Given the description of an element on the screen output the (x, y) to click on. 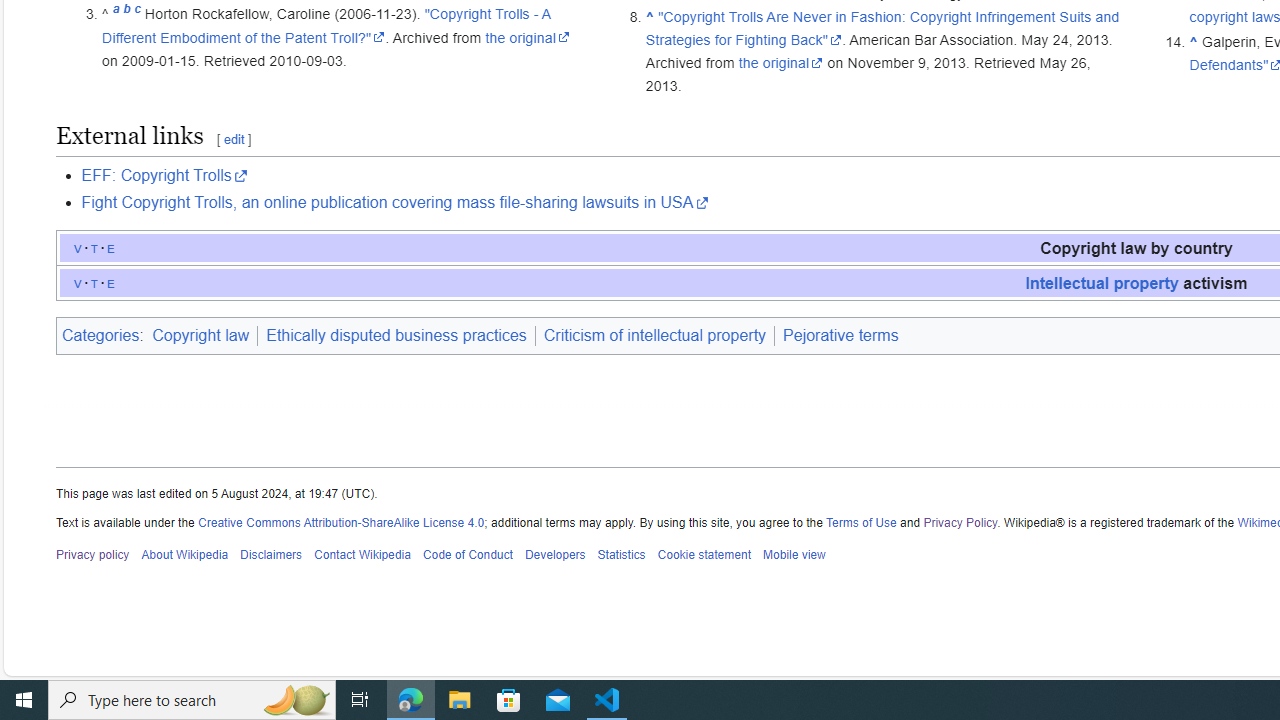
c (137, 14)
Copyright law (200, 335)
Creative Commons Attribution-ShareAlike License 4.0 (341, 521)
Disclaimers (271, 555)
t (93, 282)
Copyright law (203, 336)
Intellectual property (1101, 282)
Contact Wikipedia (361, 555)
Contact Wikipedia (361, 555)
Criticism of intellectual property (654, 335)
Code of Conduct (467, 555)
Jump up (1193, 41)
Pejorative terms (840, 335)
